Given the description of an element on the screen output the (x, y) to click on. 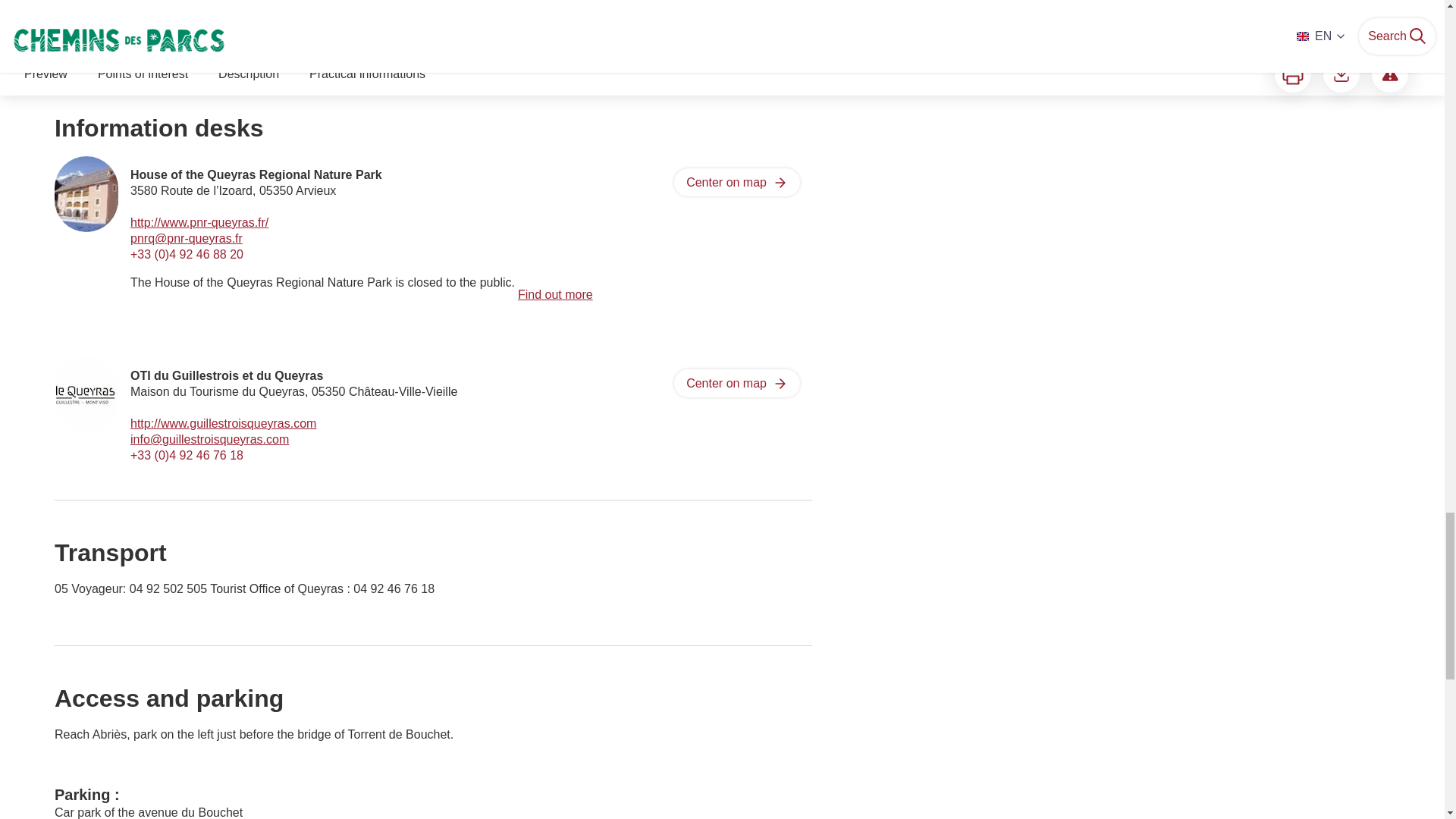
Center on map (736, 383)
Center on map (736, 182)
